Given the description of an element on the screen output the (x, y) to click on. 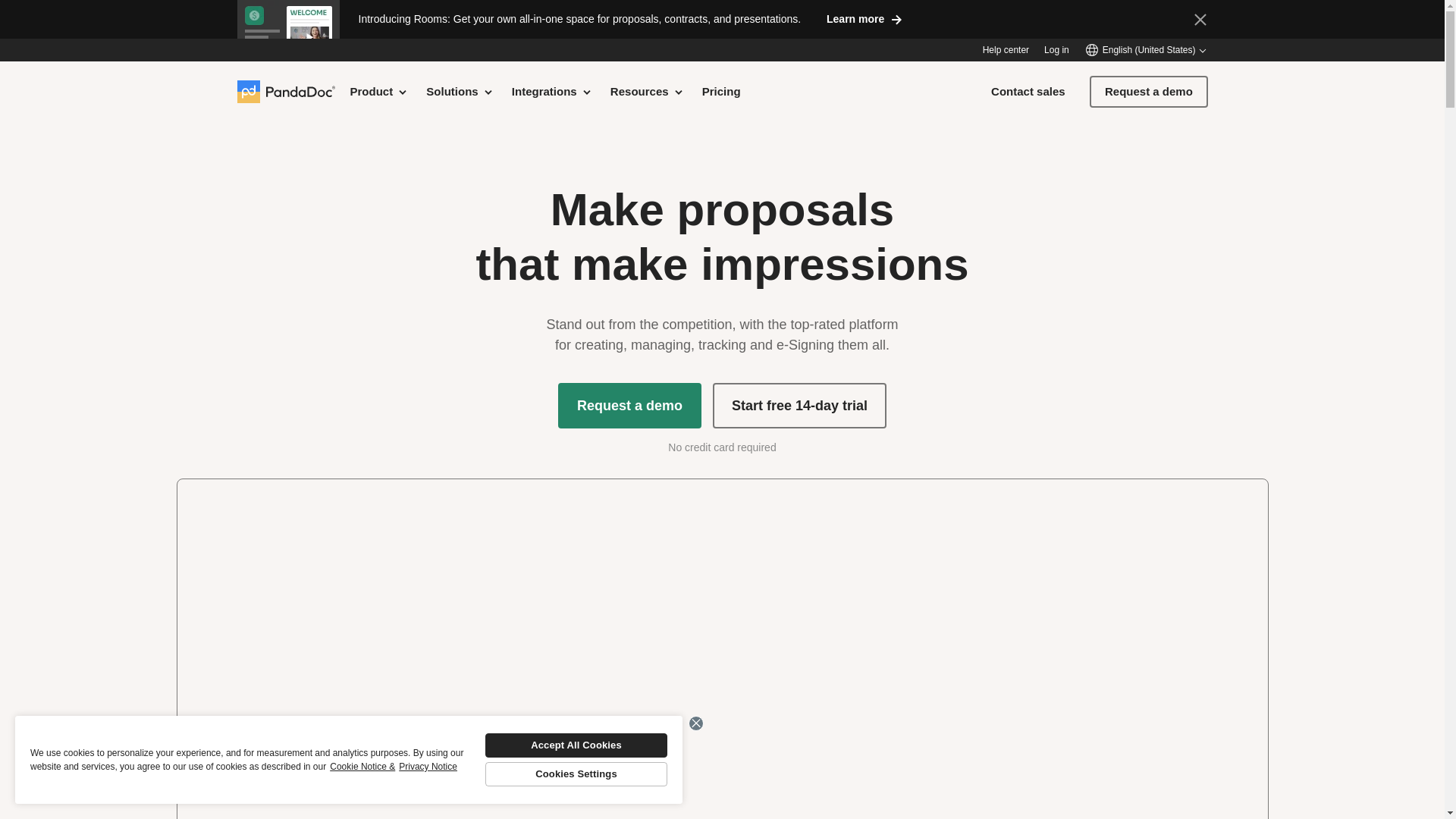
Log in (1055, 49)
Solutions (459, 91)
Product (379, 91)
Learn more (864, 18)
Help center (1005, 49)
